Given the description of an element on the screen output the (x, y) to click on. 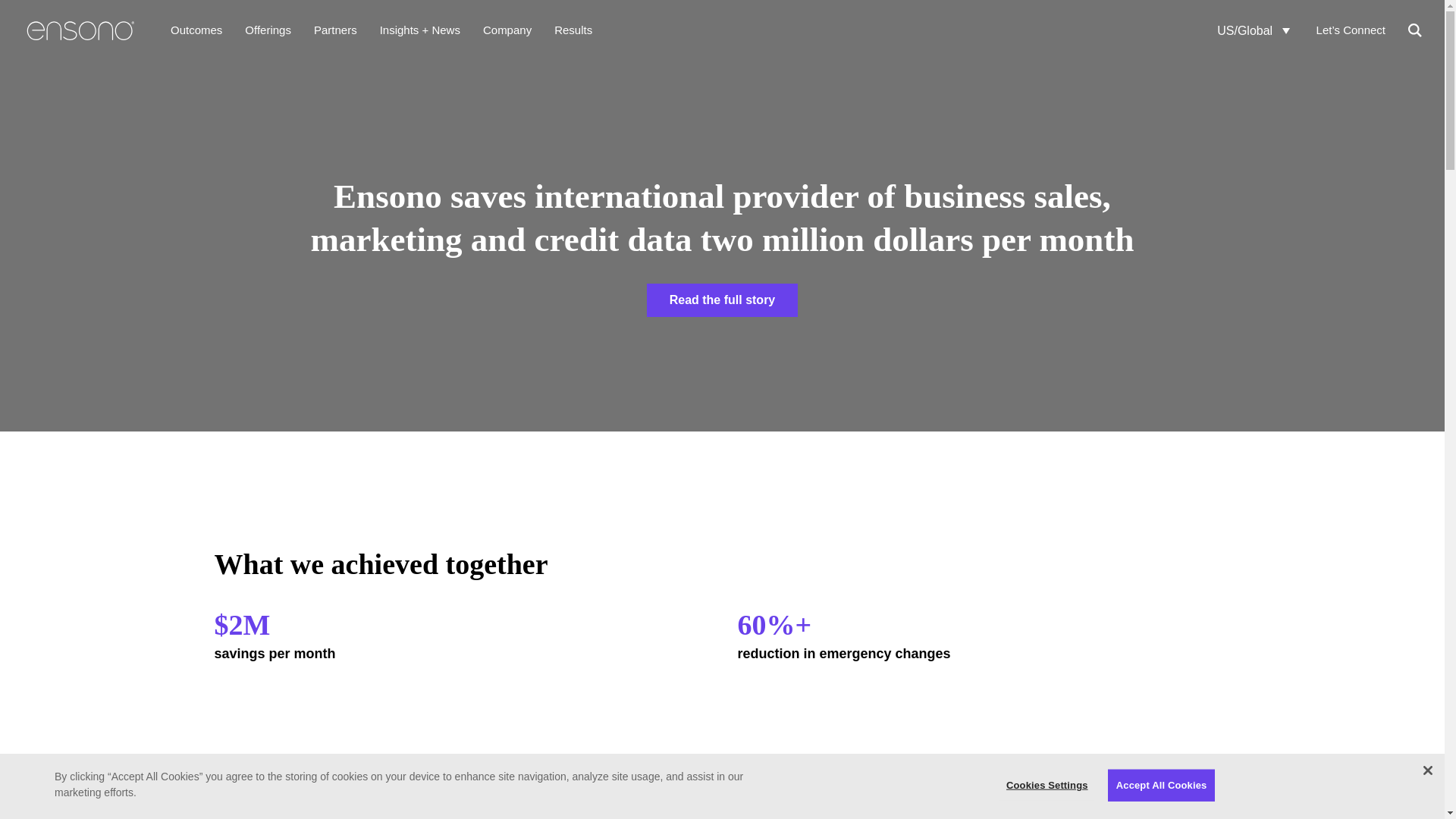
Outcomes (195, 30)
Offerings (267, 30)
